Given the description of an element on the screen output the (x, y) to click on. 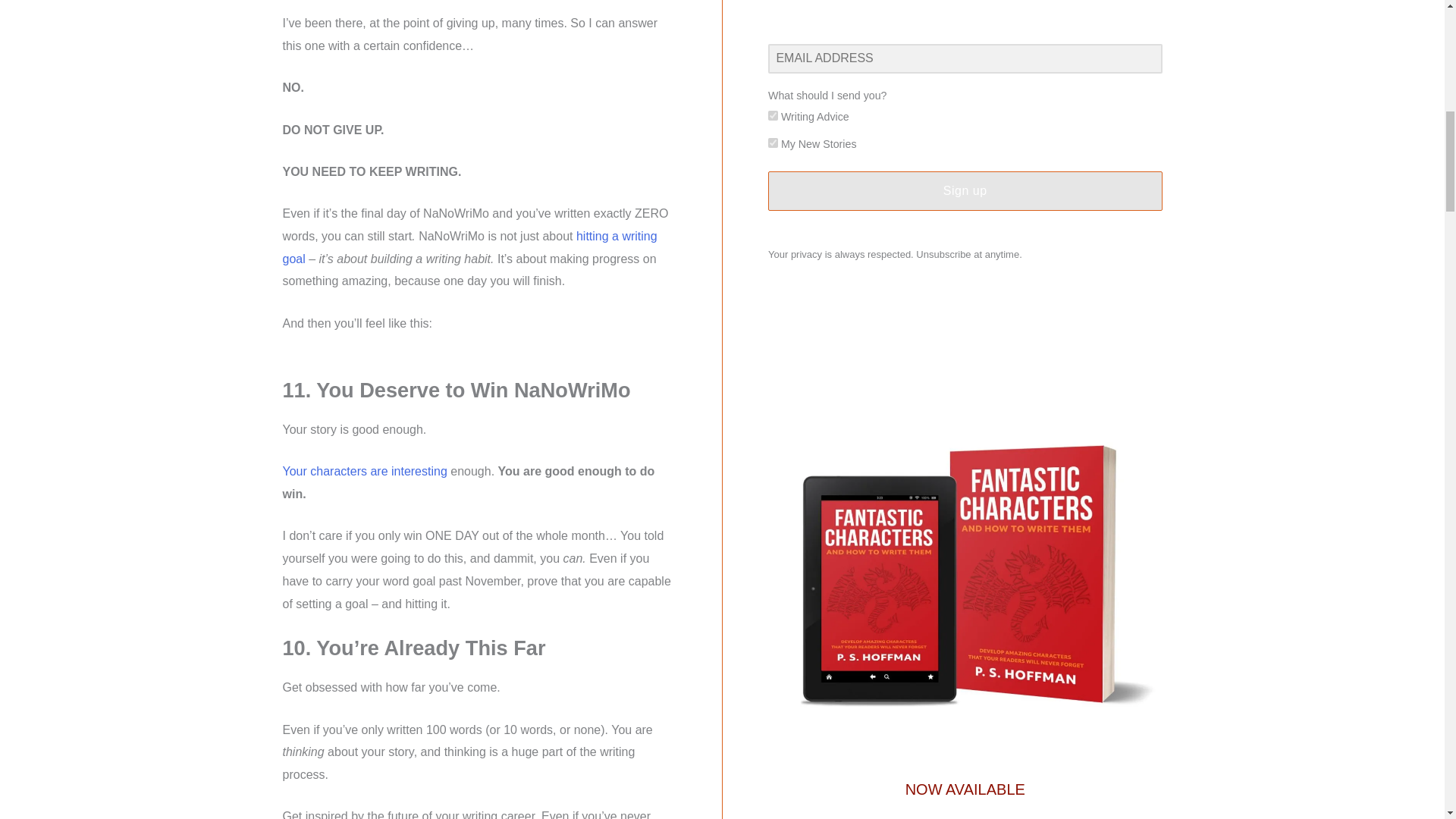
hitting a writing goal (469, 247)
Your characters are interesting (364, 471)
0e75c29d0a (772, 143)
6faf42e928 (772, 115)
